Given the description of an element on the screen output the (x, y) to click on. 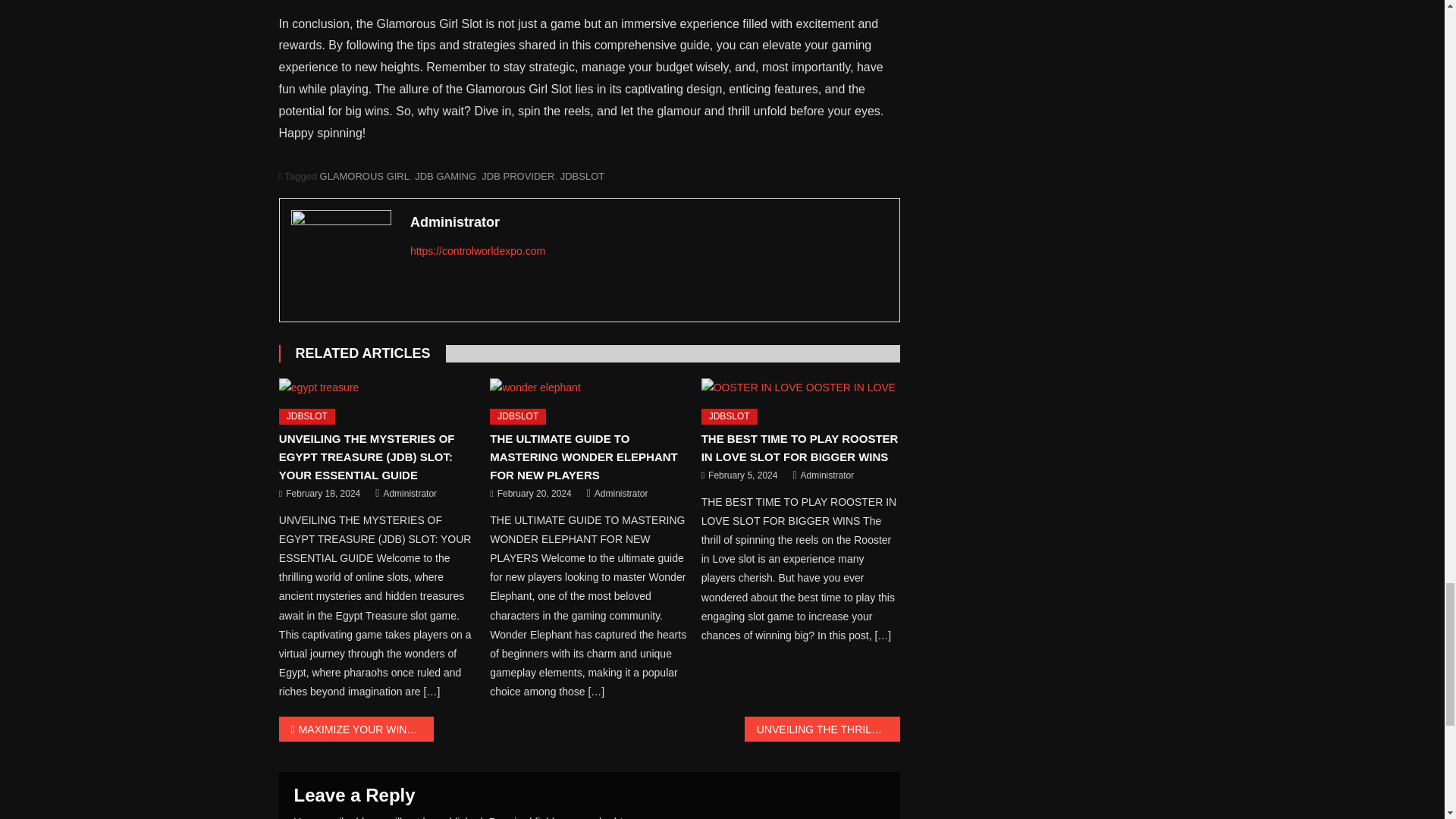
THE BEST TIME TO PLAY ROOSTER IN LOVE SLOT FOR BIGGER WINS (800, 387)
JDBSLOT (306, 416)
Administrator (409, 494)
JDB GAMING (445, 175)
February 18, 2024 (322, 494)
JDBSLOT (517, 416)
Administrator (620, 494)
February 5, 2024 (742, 475)
JDB PROVIDER (517, 175)
JDBSLOT (729, 416)
UNVEILING THE THRILLING FEATURES OF PROSPERITY TIGER SLOT (821, 729)
JDBSLOT (582, 175)
Administrator (827, 475)
February 20, 2024 (534, 494)
